Given the description of an element on the screen output the (x, y) to click on. 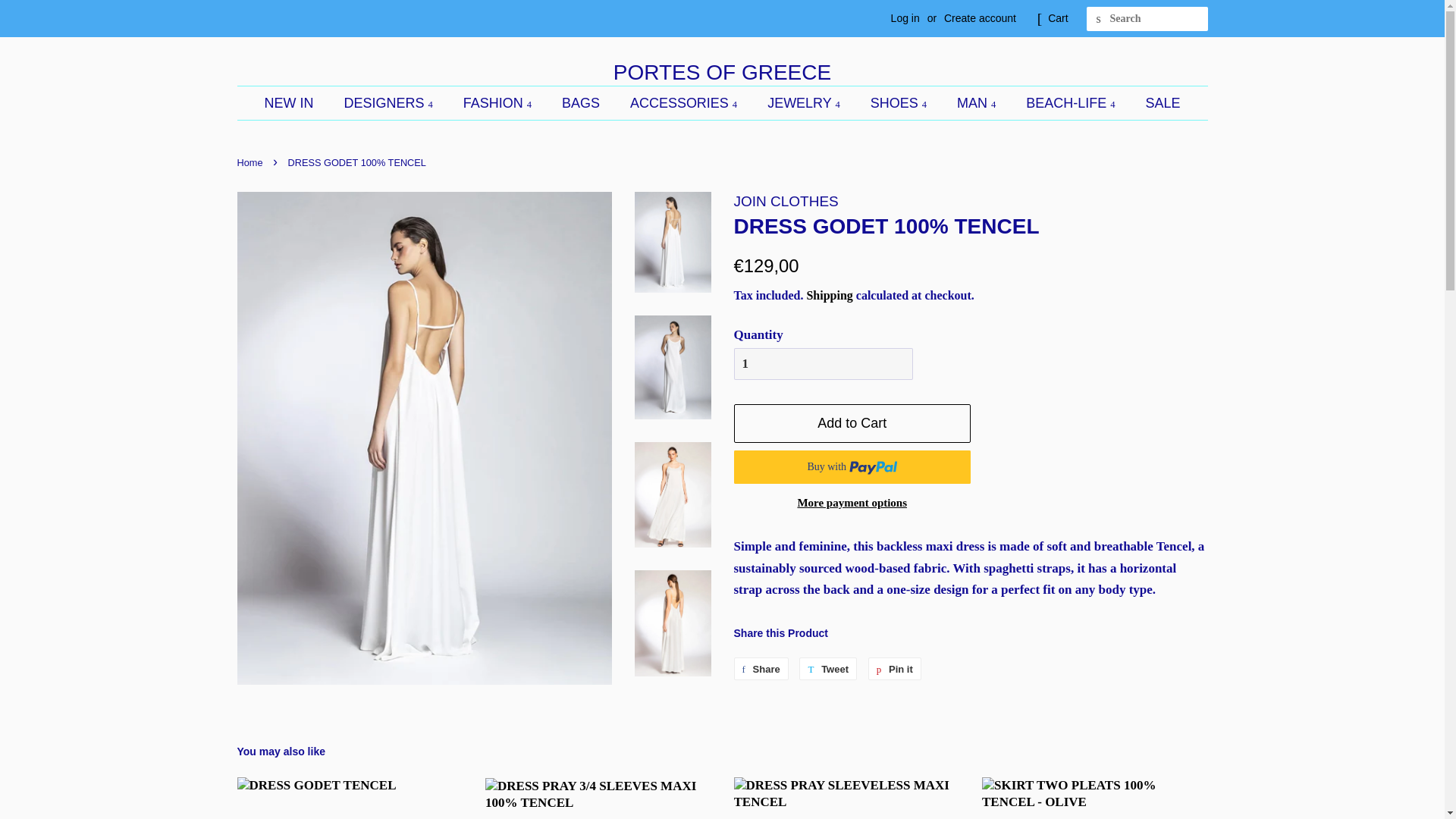
Tweet on Twitter (828, 668)
Create account (979, 18)
Search (1097, 18)
Back to the frontpage (250, 162)
1 (822, 364)
Log in (905, 18)
Share on Facebook (761, 668)
Pin on Pinterest (894, 668)
Cart (1057, 18)
